Given the description of an element on the screen output the (x, y) to click on. 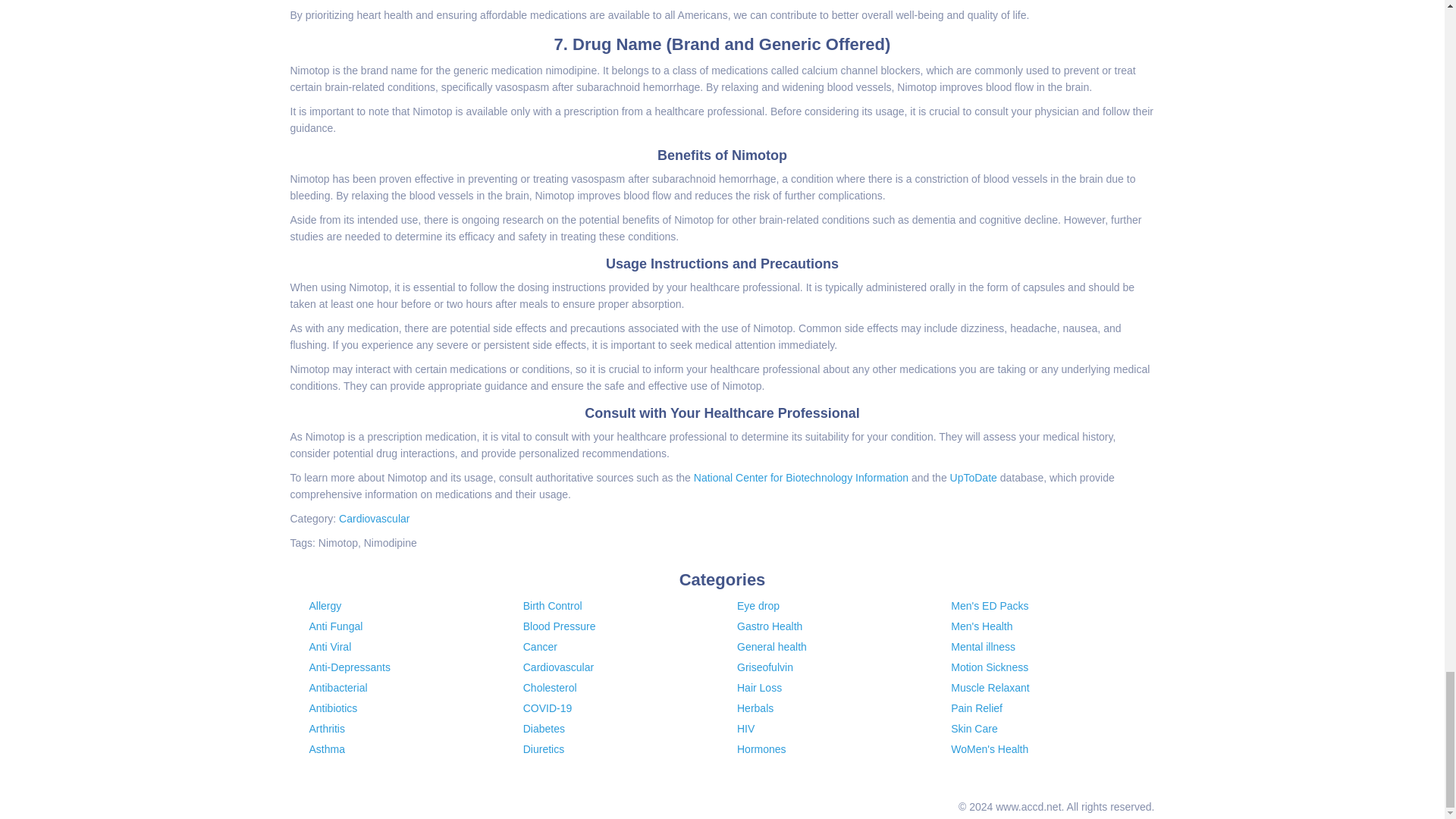
Asthma (326, 748)
Antibacterial (338, 687)
Arthritis (326, 728)
Birth Control (552, 605)
Anti Fungal (335, 625)
National Center for Biotechnology Information (801, 477)
Cardiovascular (374, 518)
Antibiotics (333, 707)
Allergy (325, 605)
Anti Viral (330, 646)
Anti-Depressants (349, 666)
UpToDate (973, 477)
